Given the description of an element on the screen output the (x, y) to click on. 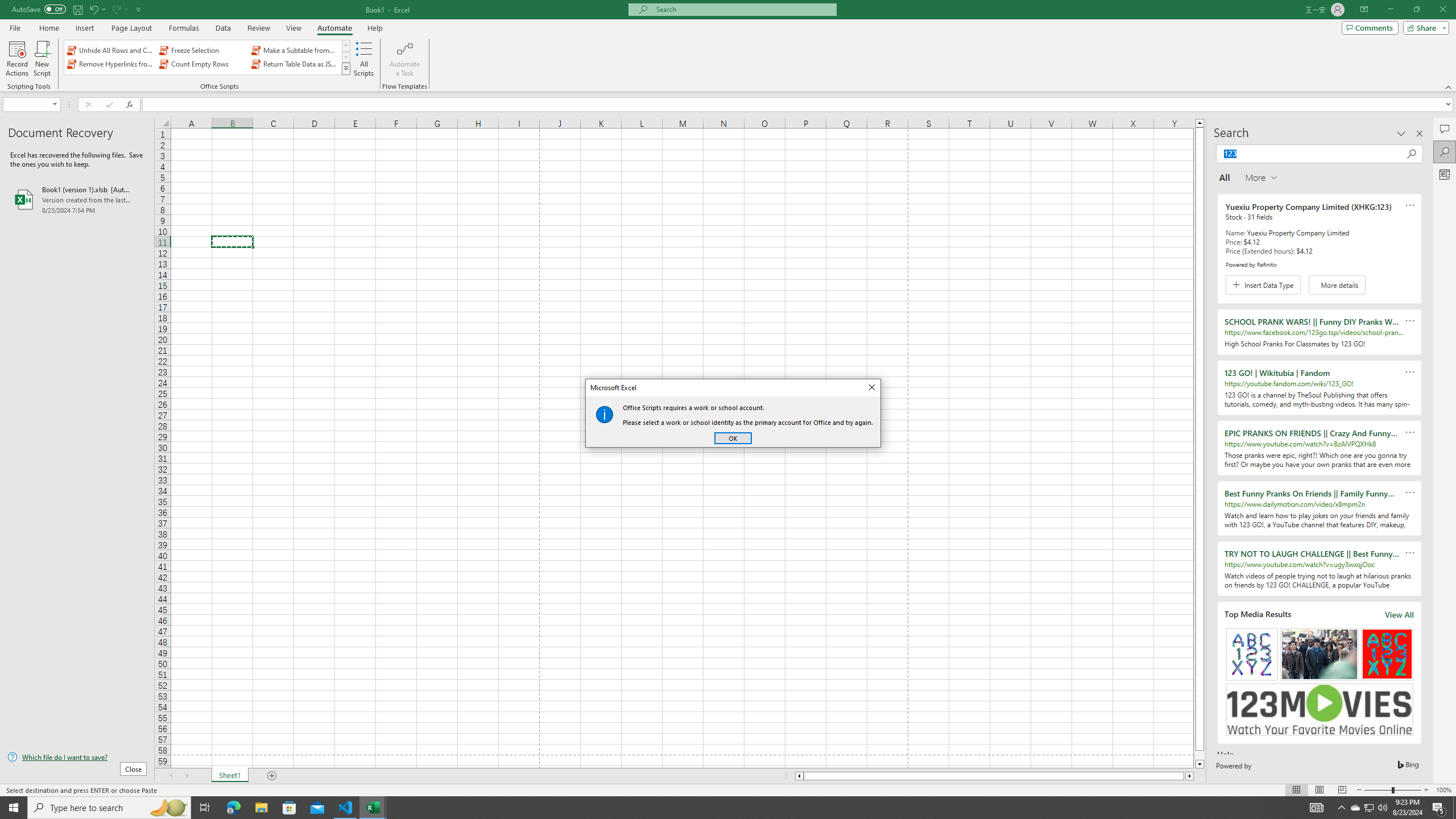
File Explorer (261, 807)
Home (48, 28)
Task Pane Options (1400, 133)
Class: NetUIImage (345, 68)
Minimize (1390, 9)
Book1 (version 1).xlsb  [AutoRecovered] (77, 199)
Save (77, 9)
Search highlights icon opens search home window (167, 807)
Action Center, 5 new notifications (1439, 807)
Share (1423, 27)
User Promoted Notification Area (1368, 807)
Row Down (346, 56)
File Tab (15, 27)
Excel - 2 running windows (373, 807)
Restore Down (1416, 9)
